Given the description of an element on the screen output the (x, y) to click on. 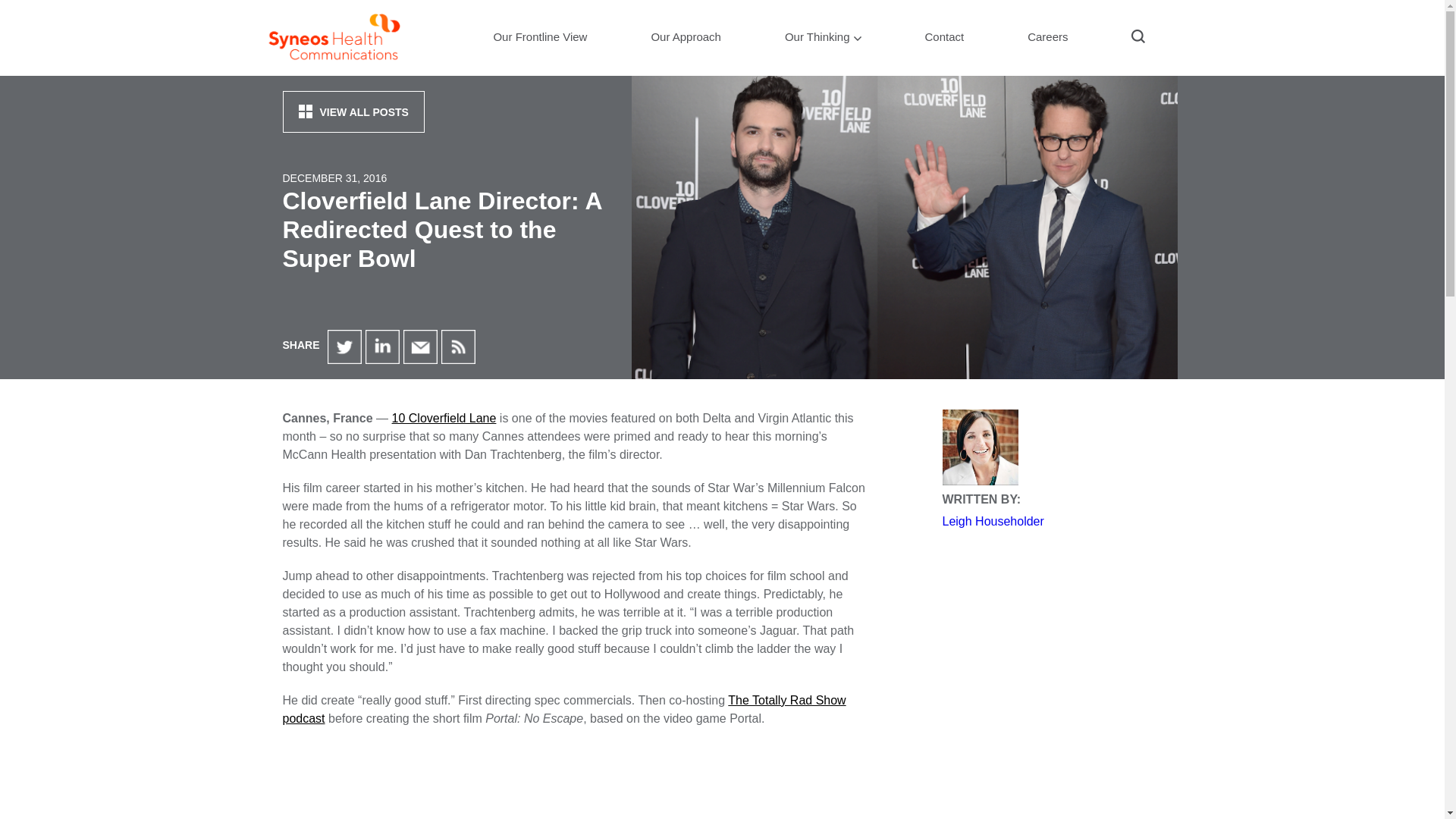
Our Frontline View (539, 43)
Our Approach (686, 43)
VIEW ALL POSTS (352, 111)
The Totally Rad Show podcast (563, 708)
Leigh Householder (992, 521)
Contact (943, 43)
Our Thinking (823, 43)
10 Cloverfield Lane (443, 418)
Careers (1047, 43)
